Given the description of an element on the screen output the (x, y) to click on. 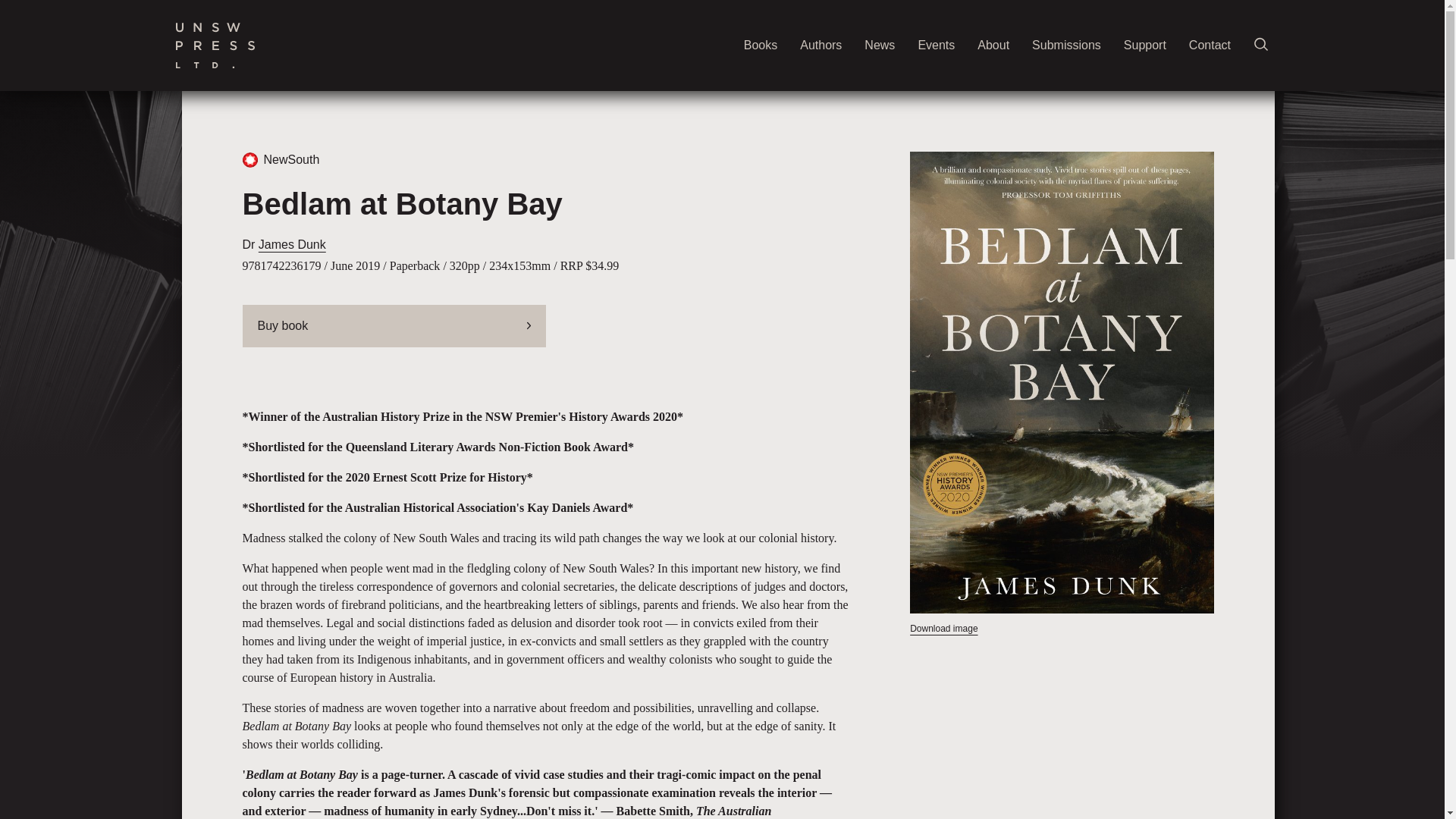
Support (1145, 45)
Submissions (1066, 45)
Download image (943, 628)
Contact (1209, 45)
Events (936, 45)
About (992, 45)
Books (760, 45)
James Dunk (292, 244)
Authors (820, 45)
News (879, 45)
Buy book (394, 325)
